Given the description of an element on the screen output the (x, y) to click on. 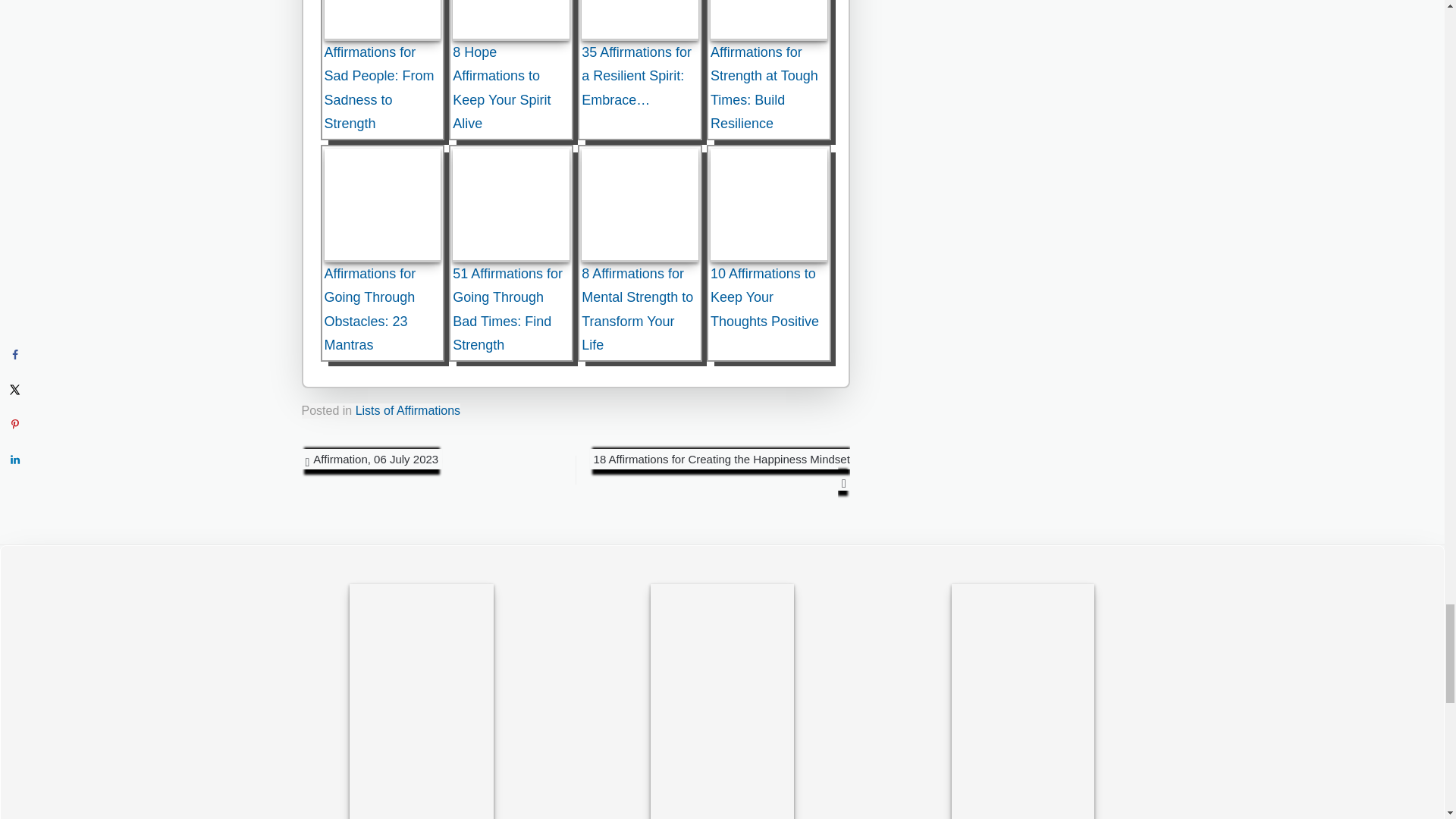
Affirmations for Strength at Tough Times: Build Resilience (768, 20)
Affirmations for Sad People: From Sadness to Strength (381, 20)
10 Affirmations to Keep Your Thoughts Positive (768, 205)
Affirmations for Going Through Obstacles: 23 Mantras (381, 205)
51 Affirmations for Going Through Bad Times: Find Strength (510, 205)
8 Affirmations for Mental Strength to Transform Your Life (640, 205)
8 Hope Affirmations to Keep Your Spirit Alive (510, 20)
